Given the description of an element on the screen output the (x, y) to click on. 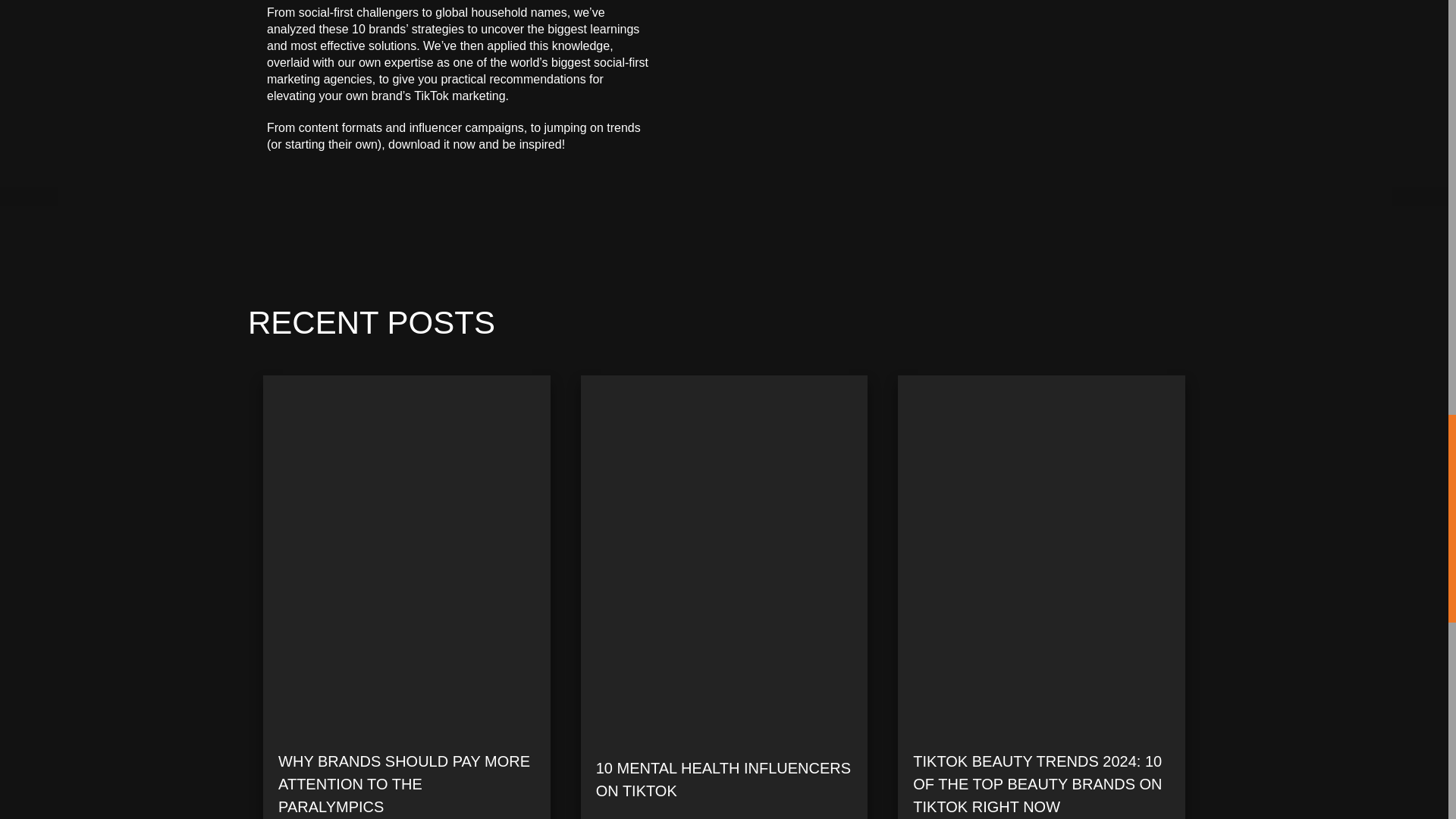
10 MENTAL HEALTH INFLUENCERS ON TIKTOK (724, 787)
WHY BRANDS SHOULD PAY MORE ATTENTION TO THE PARALYMPICS  (406, 784)
10 Mental Health Influencers on TikTok (724, 787)
